Given the description of an element on the screen output the (x, y) to click on. 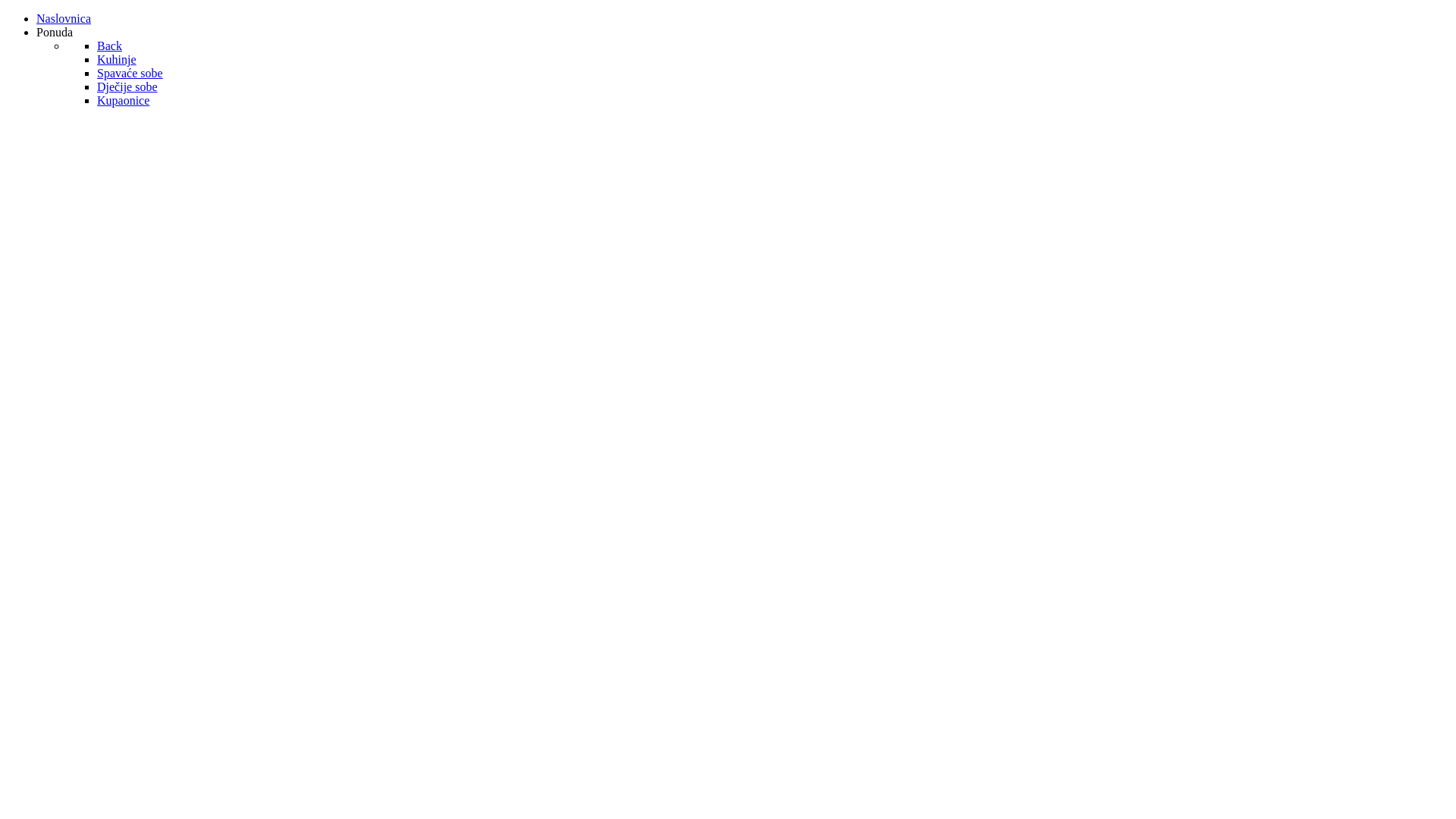
Naslovnica Element type: text (63, 18)
Back Element type: text (109, 45)
Kuhinje Element type: text (116, 59)
Kupaonice Element type: text (123, 100)
